Given the description of an element on the screen output the (x, y) to click on. 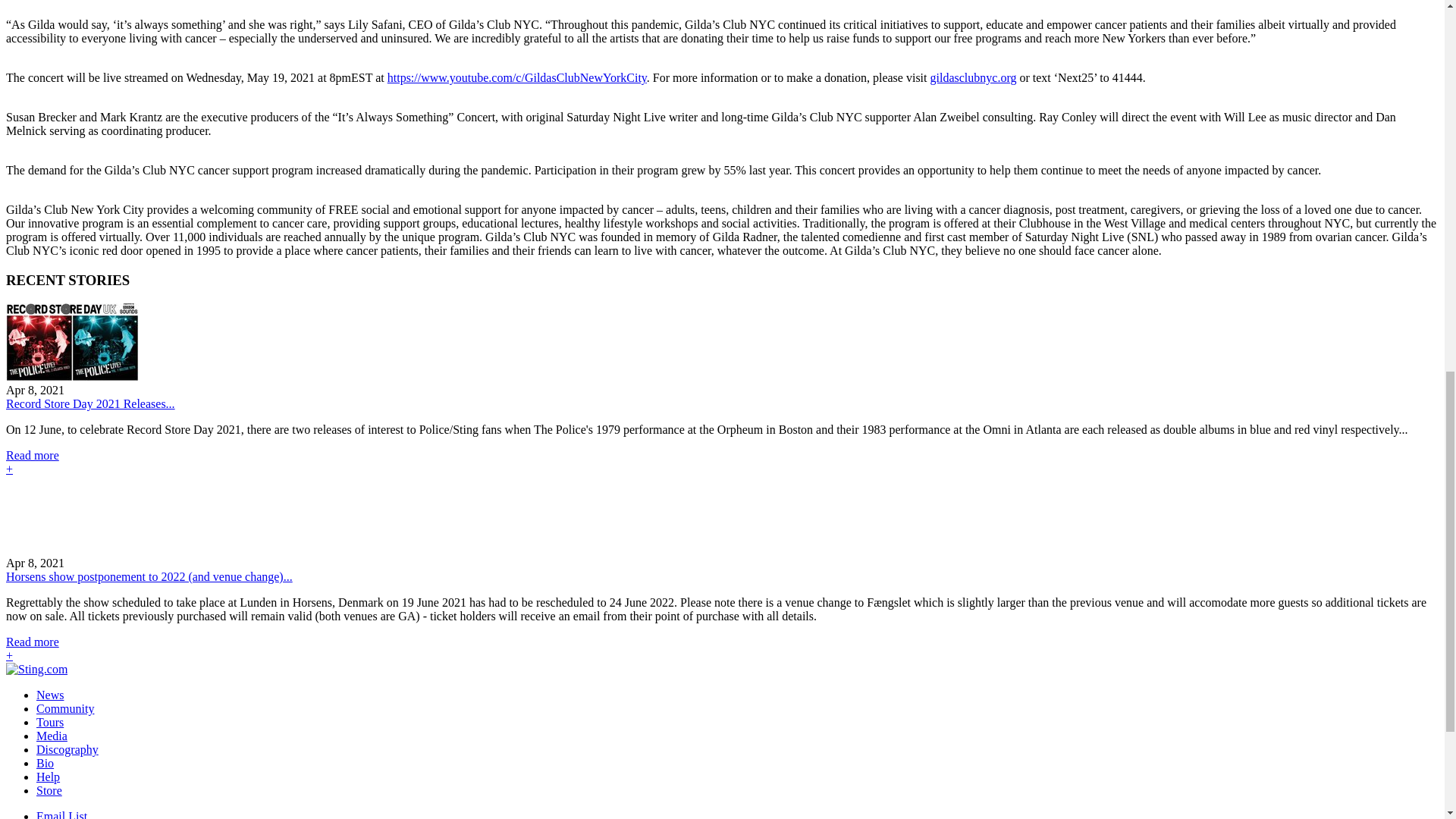
Record Store Day 2021 Releases... (89, 403)
gildasclubnyc.org (973, 77)
